Given the description of an element on the screen output the (x, y) to click on. 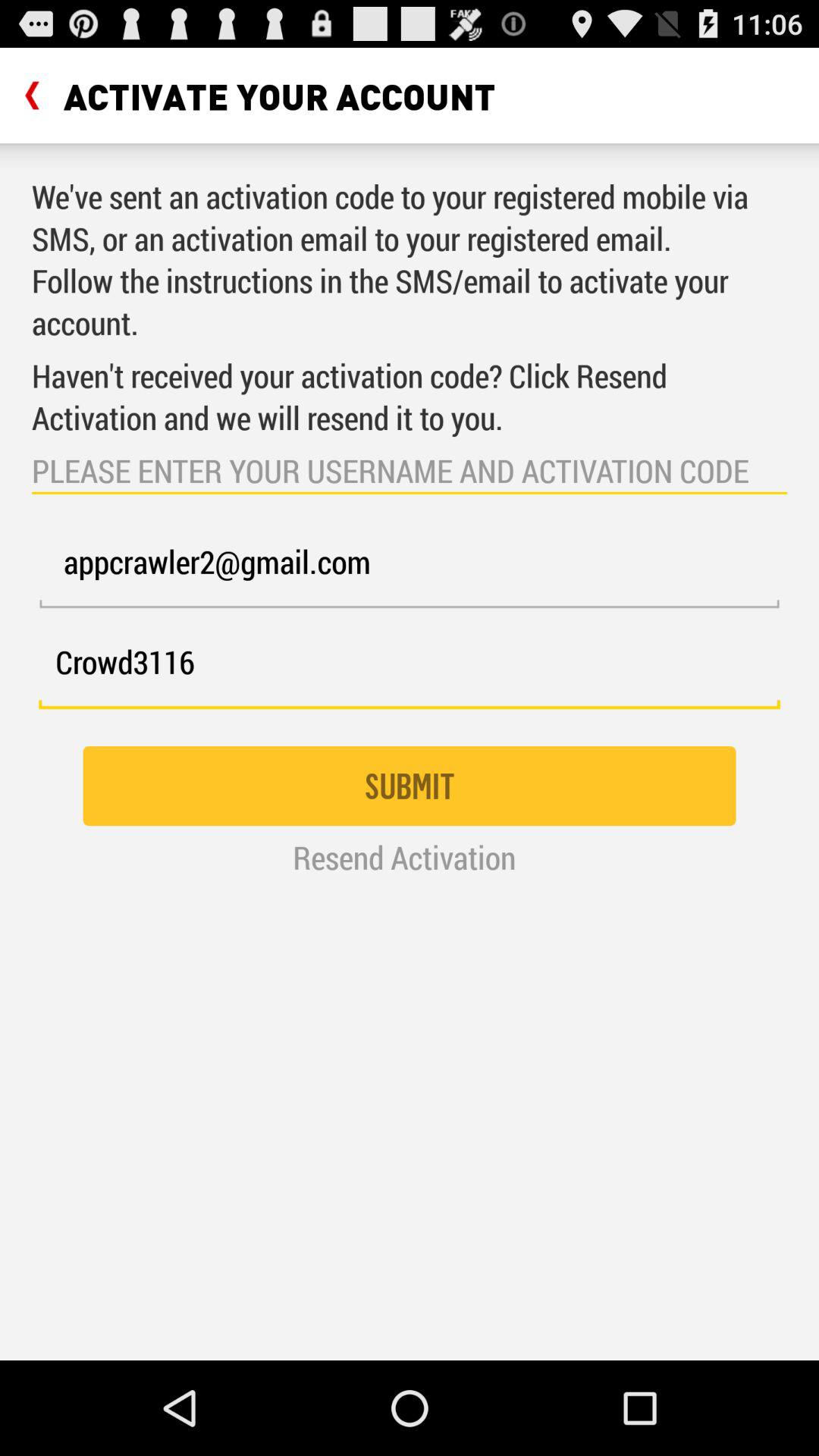
press icon above resend activation item (409, 785)
